Given the description of an element on the screen output the (x, y) to click on. 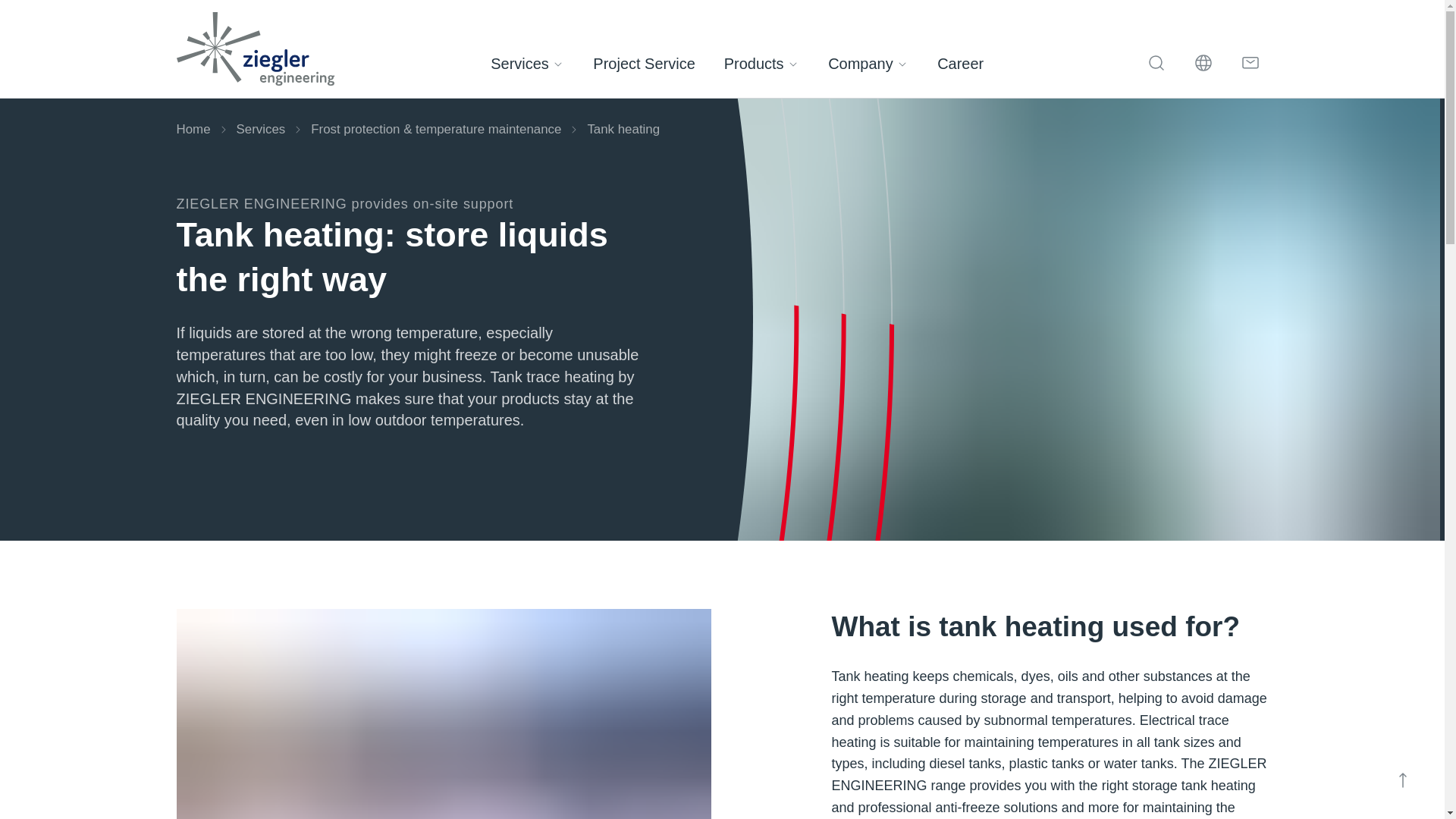
Company (867, 64)
Services (526, 64)
Products (761, 64)
Project Service (643, 64)
